Given the description of an element on the screen output the (x, y) to click on. 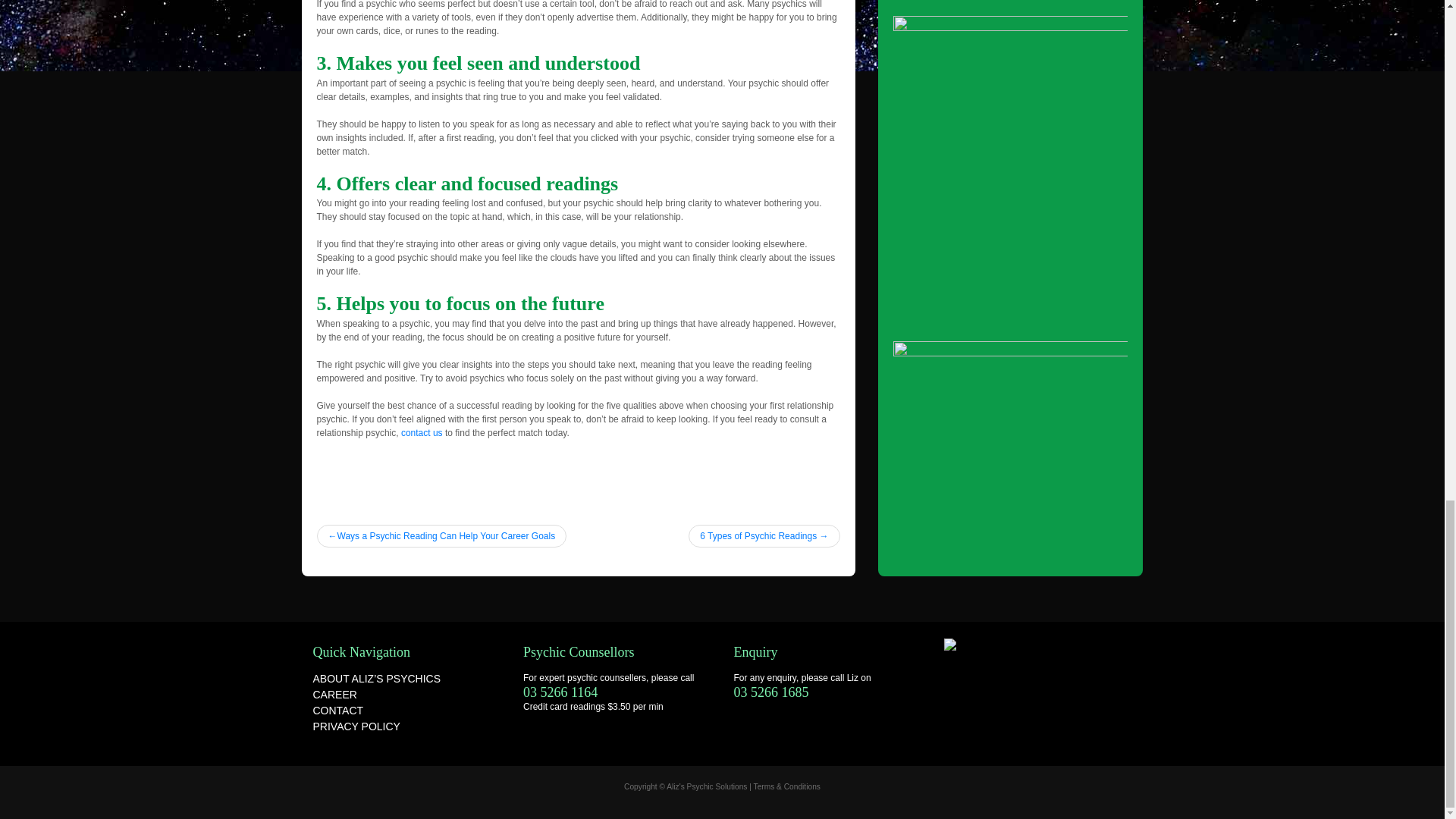
Ways a Psychic Reading Can Help Your Career Goals (442, 535)
6 Types of Psychic Readings (764, 535)
contact us (421, 432)
